Given the description of an element on the screen output the (x, y) to click on. 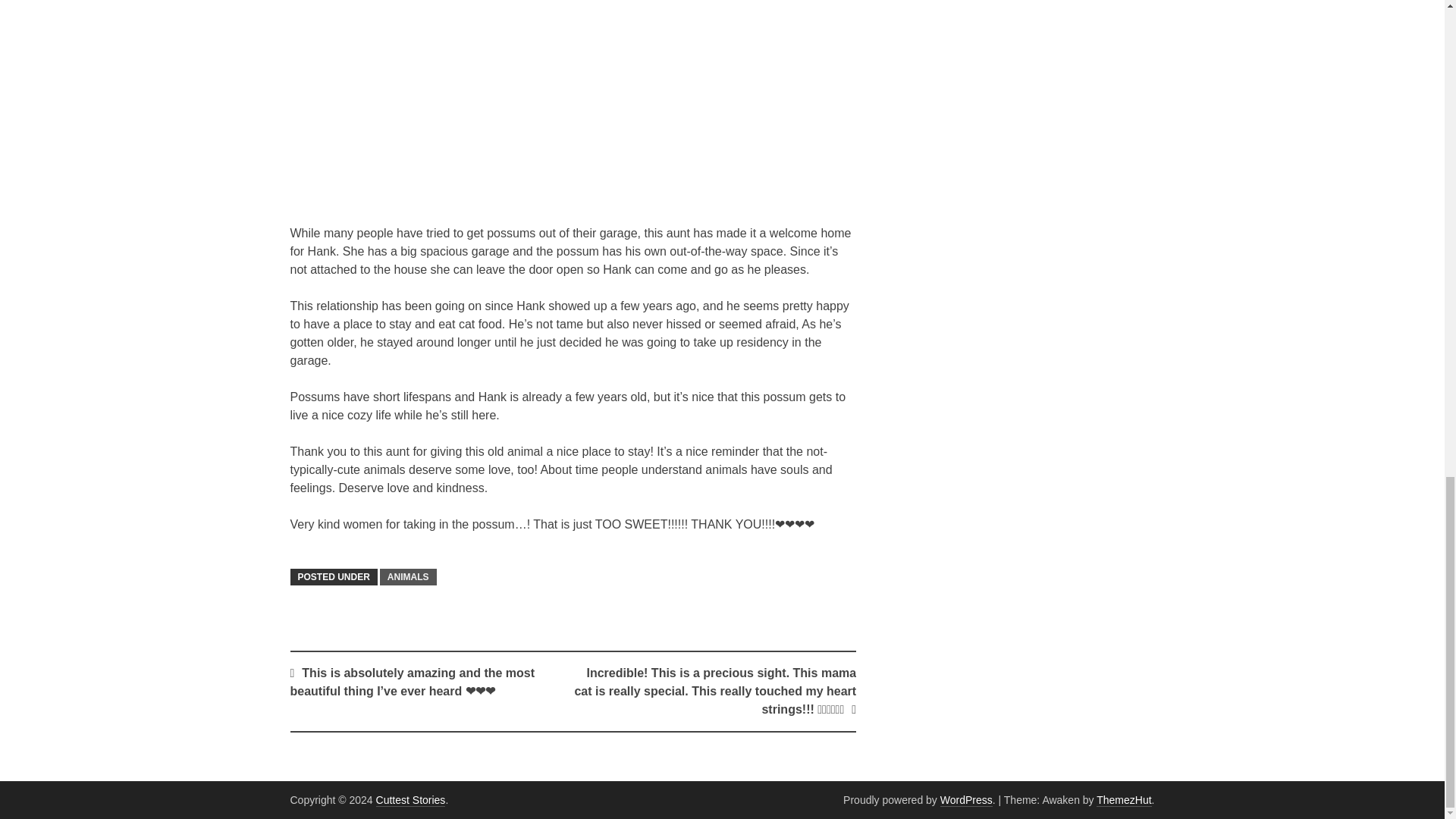
ThemezHut (1123, 799)
WordPress (966, 799)
ANIMALS (408, 576)
Cuttest Stories (410, 799)
Cuttest Stories (410, 799)
WordPress (966, 799)
